Given the description of an element on the screen output the (x, y) to click on. 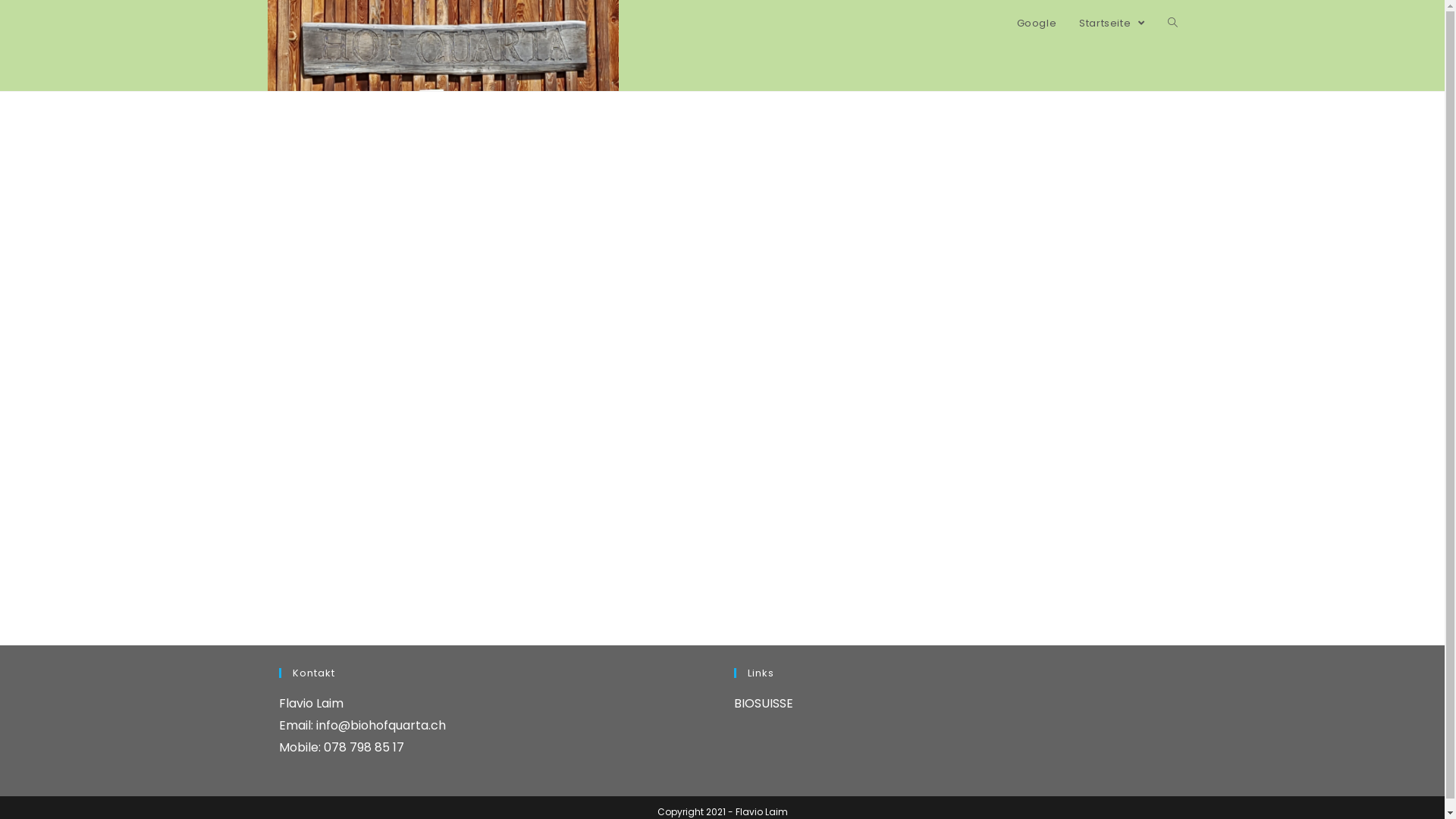
Google Element type: text (1036, 23)
info@biohofquarta.ch Element type: text (380, 725)
BIOSUISSE Element type: text (763, 703)
Startseite Element type: text (1111, 23)
